Given the description of an element on the screen output the (x, y) to click on. 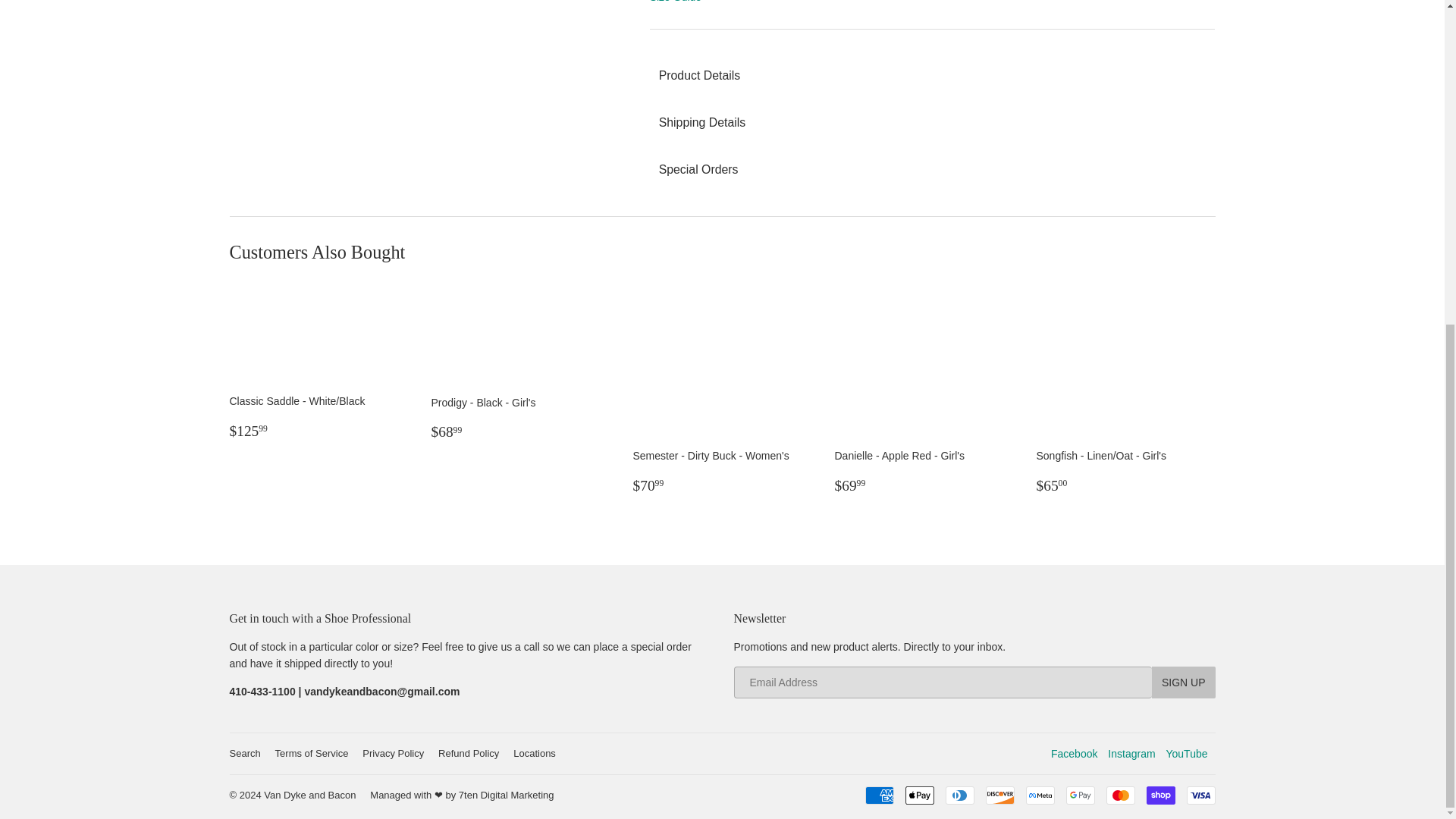
Van Dyke and Bacon on Instagram (1131, 753)
Mastercard (1119, 795)
Diners Club (959, 795)
Apple Pay (919, 795)
Discover (999, 795)
Van Dyke and Bacon on YouTube (1186, 753)
Van Dyke and Bacon on Facebook (1074, 753)
Shop Pay (1160, 795)
American Express (878, 795)
Visa (1200, 795)
Meta Pay (1039, 795)
Google Pay (1079, 795)
